Given the description of an element on the screen output the (x, y) to click on. 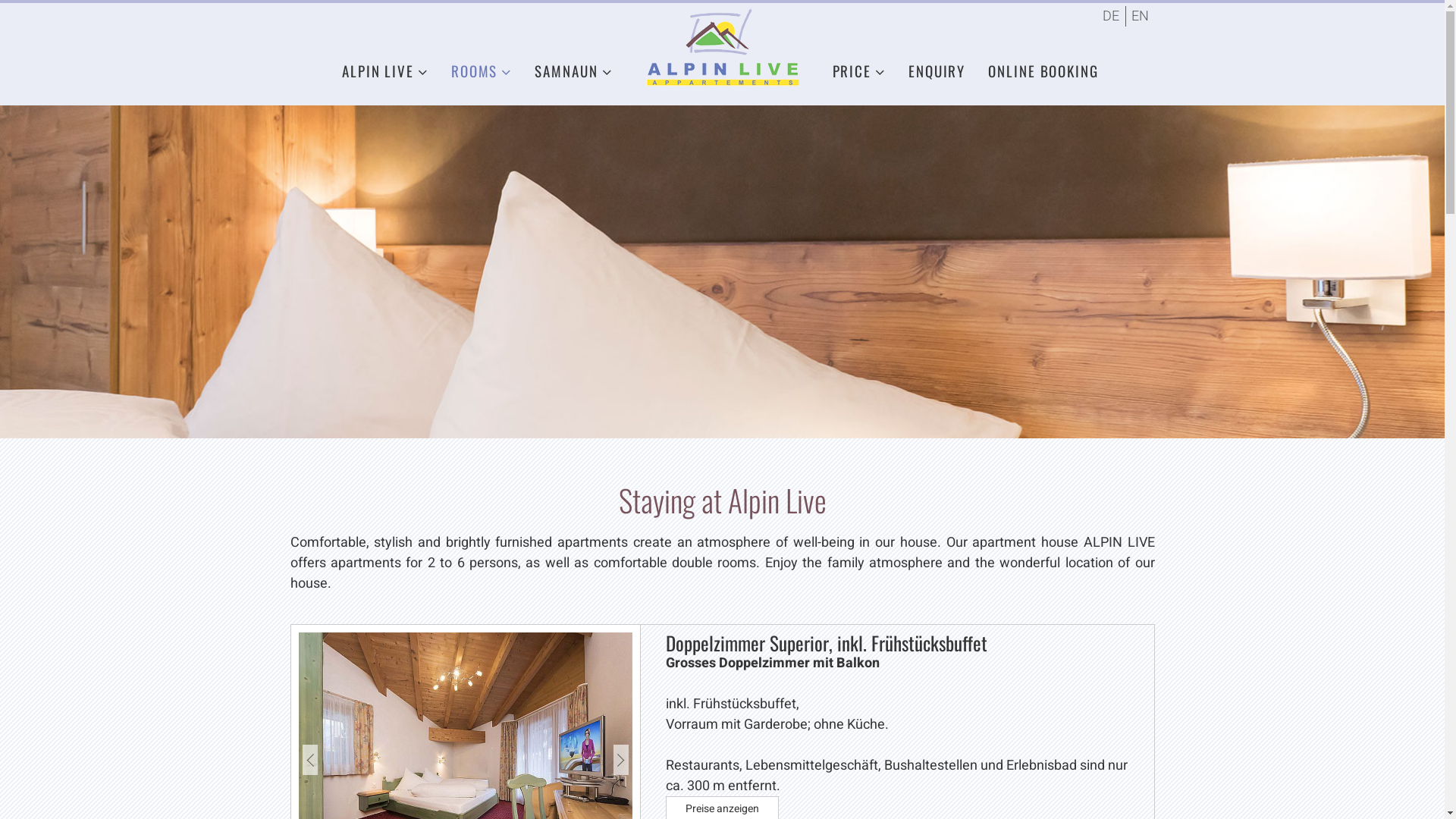
EN Element type: text (1139, 16)
ENQUIRY Element type: text (936, 70)
ROOMS Element type: text (481, 71)
SAMNAUN Element type: text (573, 71)
Previous Element type: text (308, 759)
PRICE Element type: text (858, 71)
Next Element type: text (620, 759)
ALPIN LIVE Element type: text (384, 71)
DE Element type: text (1110, 16)
ONLINE BOOKING Element type: text (1043, 70)
